Given the description of an element on the screen output the (x, y) to click on. 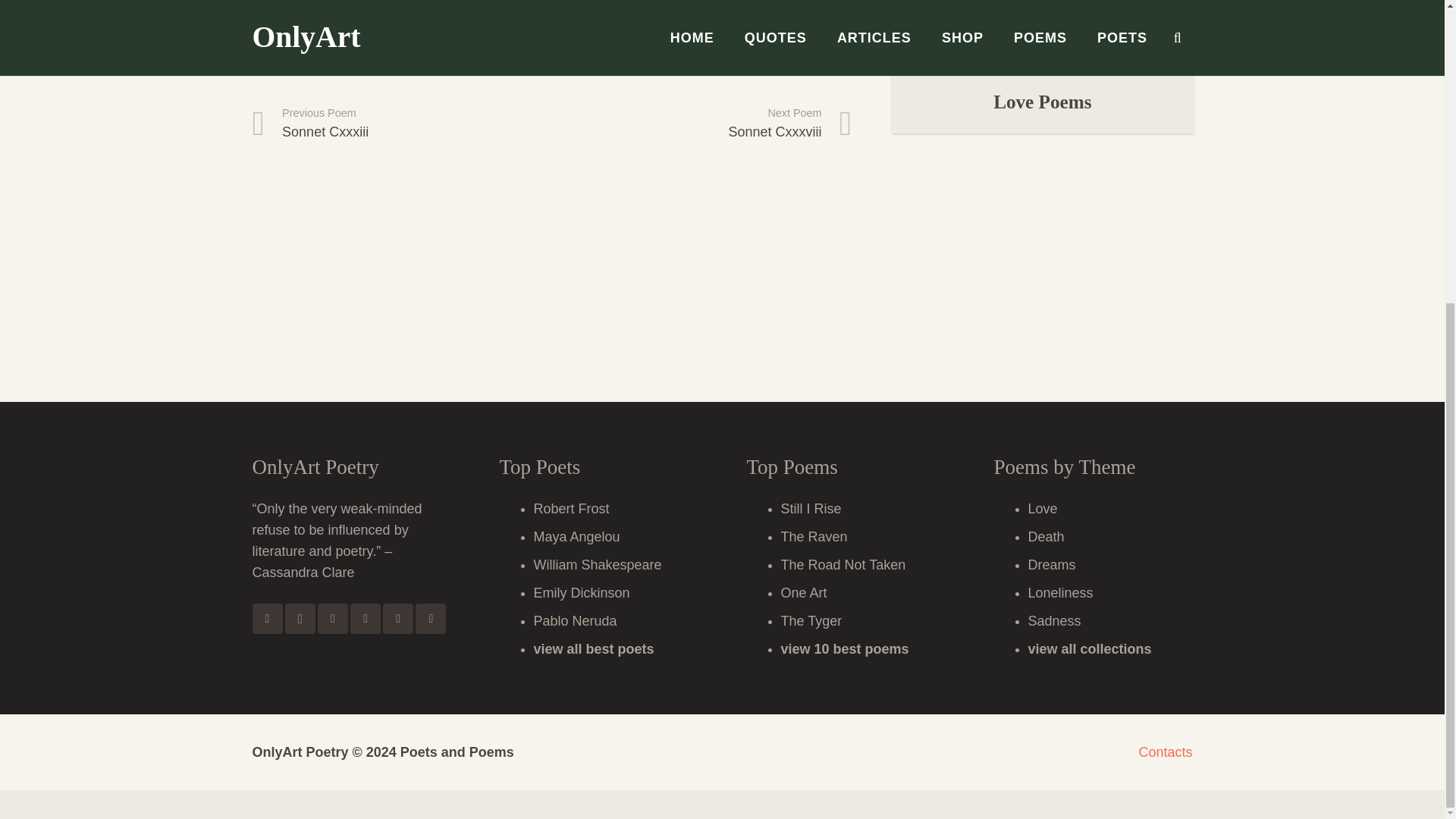
Love Poems (1041, 101)
Facebook (266, 618)
Instagram (701, 123)
Sonnet Cxxxviii (300, 618)
Twitter (701, 123)
Sonnet Cxxxiii (332, 618)
Pinterest (401, 123)
Reddit (397, 618)
Advertisement (365, 618)
